Given the description of an element on the screen output the (x, y) to click on. 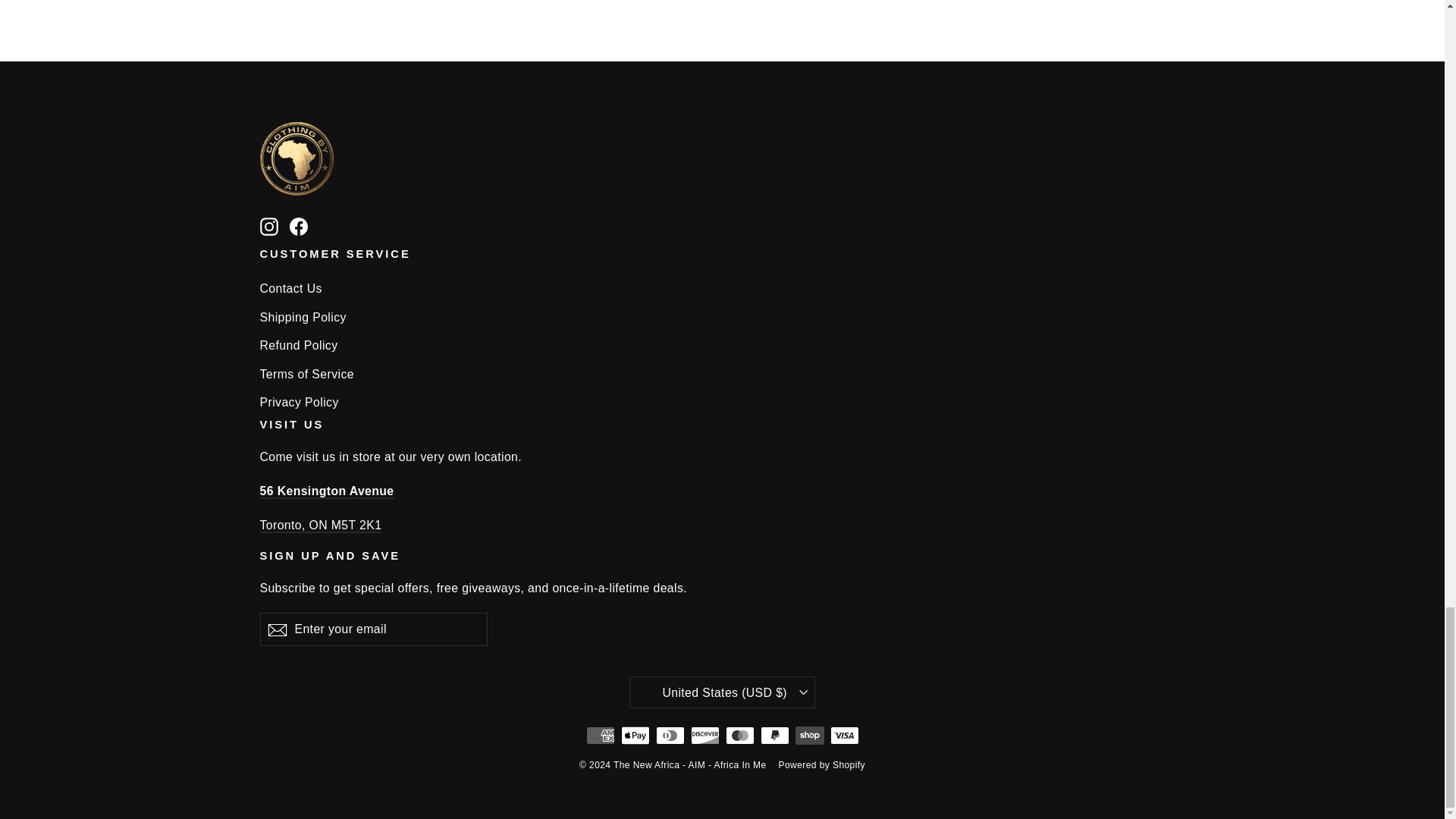
American Express (599, 735)
The New Africa - AIM - Africa In Me on Facebook (298, 225)
Diners Club (669, 735)
Apple Pay (634, 735)
